Given the description of an element on the screen output the (x, y) to click on. 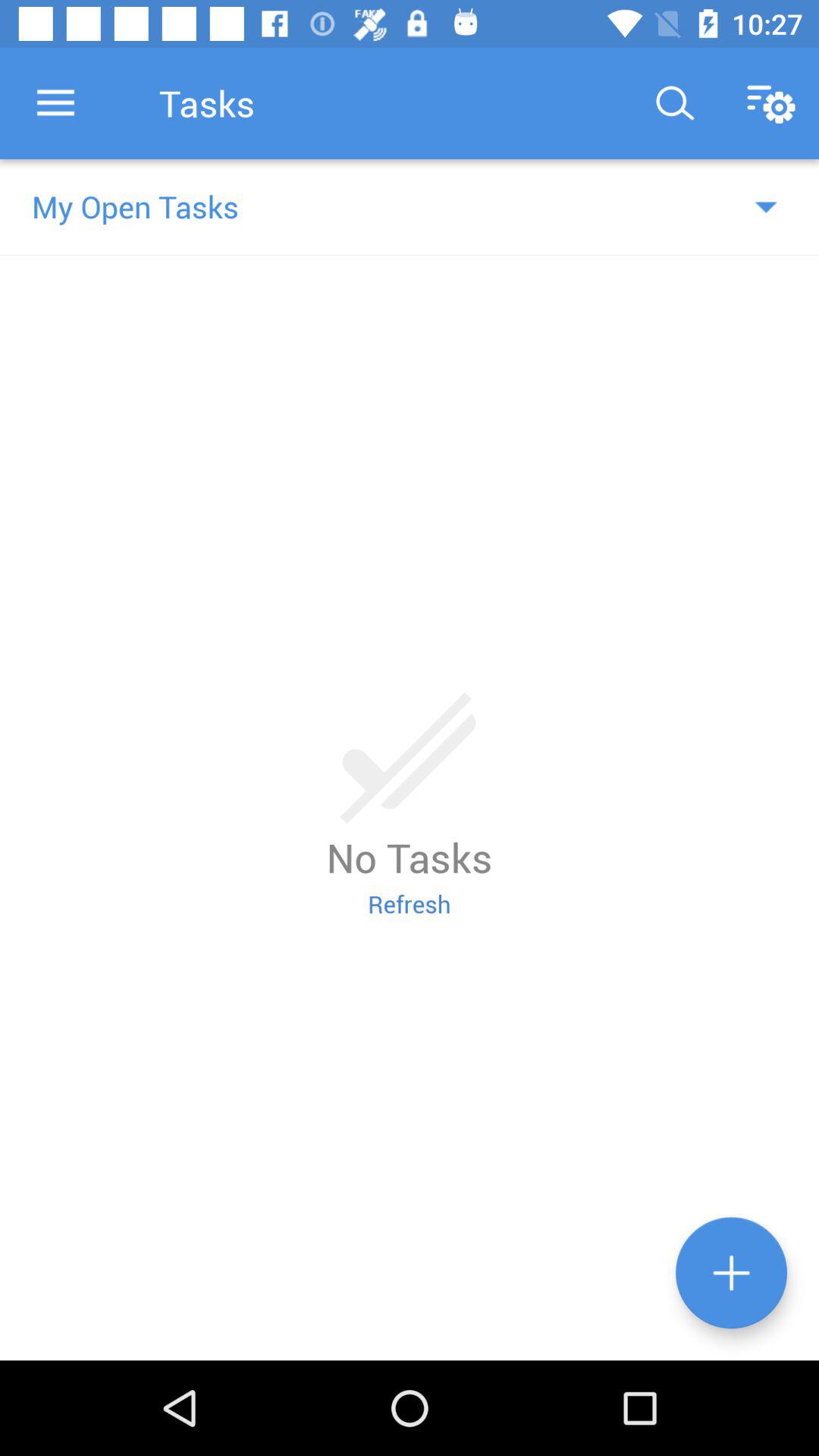
new task (731, 1272)
